Given the description of an element on the screen output the (x, y) to click on. 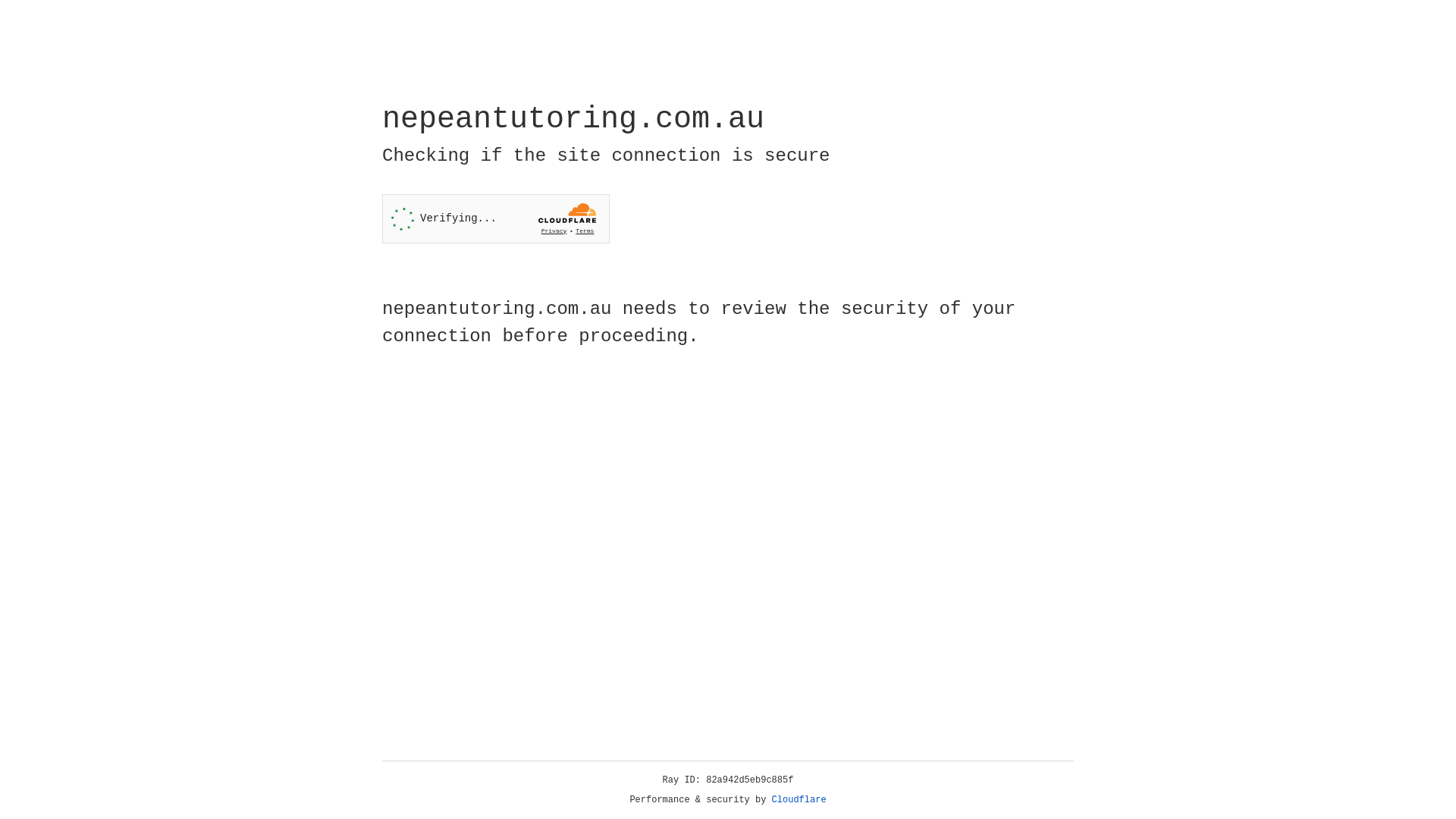
Cloudflare Element type: text (798, 799)
Widget containing a Cloudflare security challenge Element type: hover (495, 218)
